Given the description of an element on the screen output the (x, y) to click on. 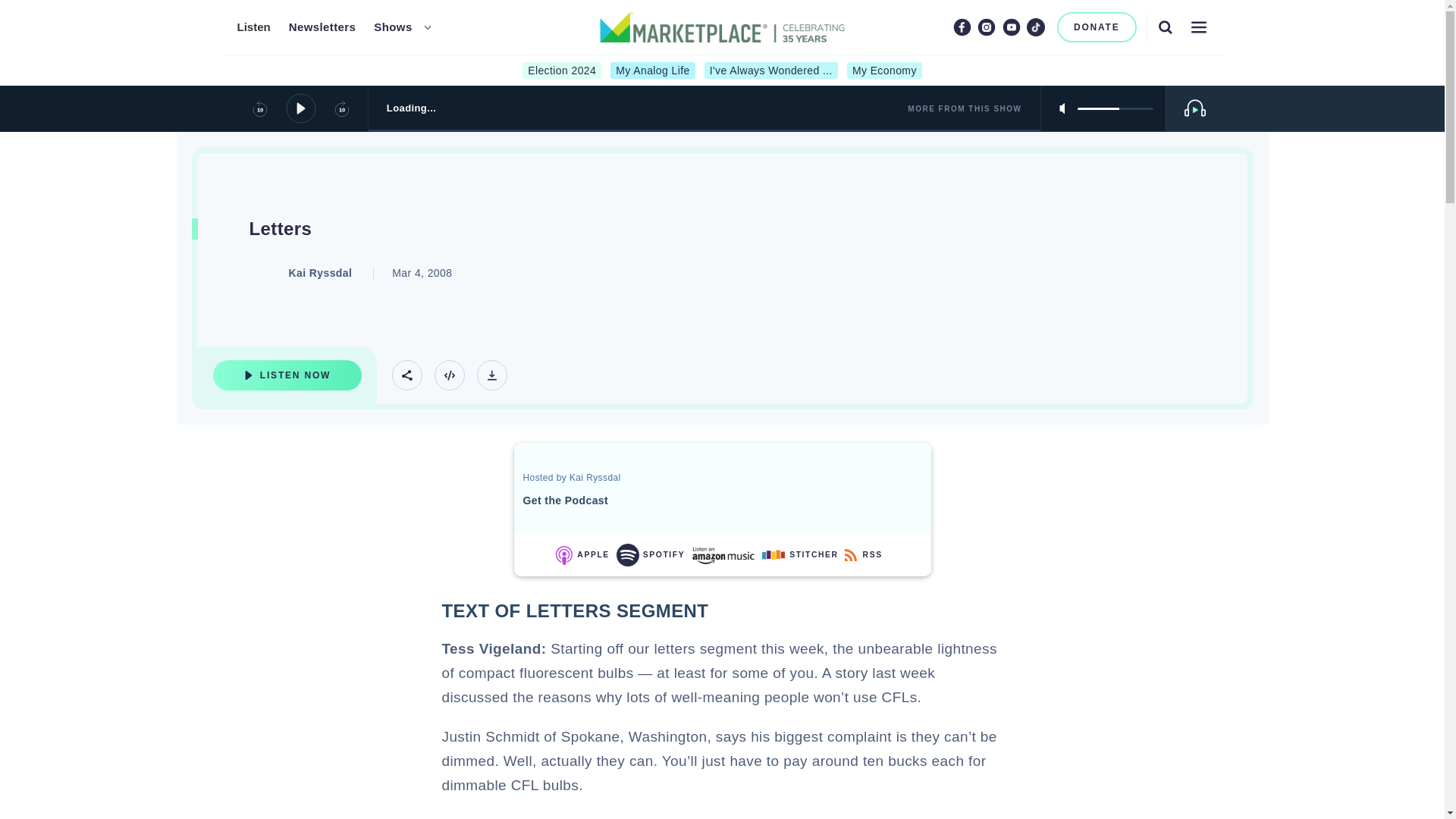
Instagram (985, 27)
volume (1115, 108)
Listen (252, 26)
Shows (393, 26)
Search (1164, 27)
DONATE (1097, 27)
Youtube (1011, 27)
5 (1115, 108)
Skip 10 Seconds (341, 108)
Download Track (491, 374)
Newsletters (322, 27)
Menu (1198, 27)
Playback 10 Seconds (259, 108)
Listen Now (286, 374)
Facebook (962, 27)
